Given the description of an element on the screen output the (x, y) to click on. 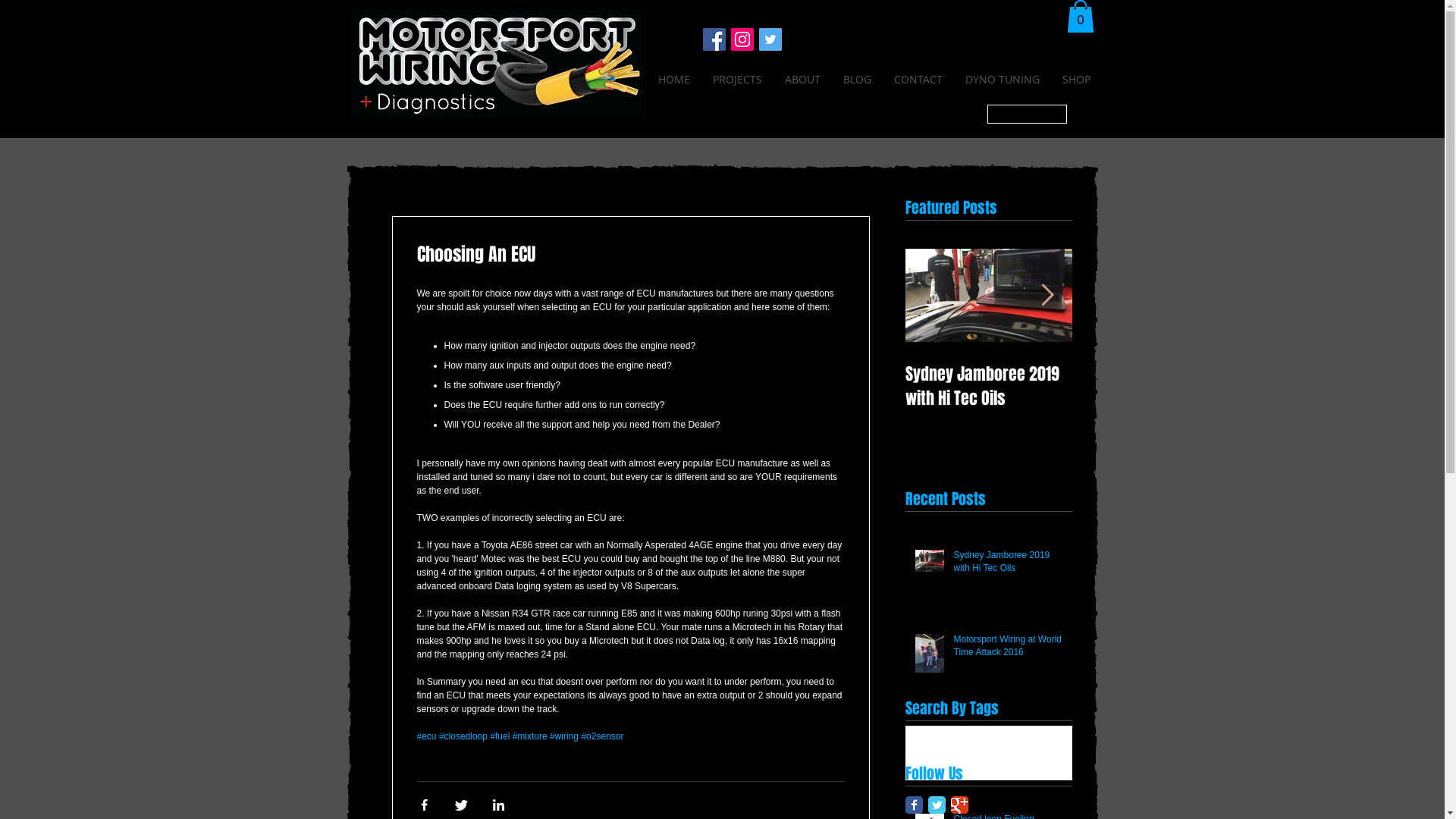
0 Element type: text (1079, 16)
CONTACT Element type: text (976, 79)
BLOG Element type: text (915, 79)
Motorsport Wiring at World Time Attack 2016 Element type: text (1008, 649)
PROJECTS Element type: text (794, 79)
Sydney Jamboree 2019 with Hi Tec Oils Element type: text (1008, 564)
HOME Element type: text (728, 79)
DYNO TUNING Element type: text (1058, 79)
Post not marked as liked Element type: text (836, 428)
SHOP Element type: text (1130, 79)
Motorsport Wiring at World Time Attack 2016 Element type: text (1155, 385)
Sydney Jamboree 2019 with Hi Tec Oils Element type: text (988, 385)
ABOUT Element type: text (861, 79)
Wideband Oxygen Sensors Element type: text (1008, 749)
